Given the description of an element on the screen output the (x, y) to click on. 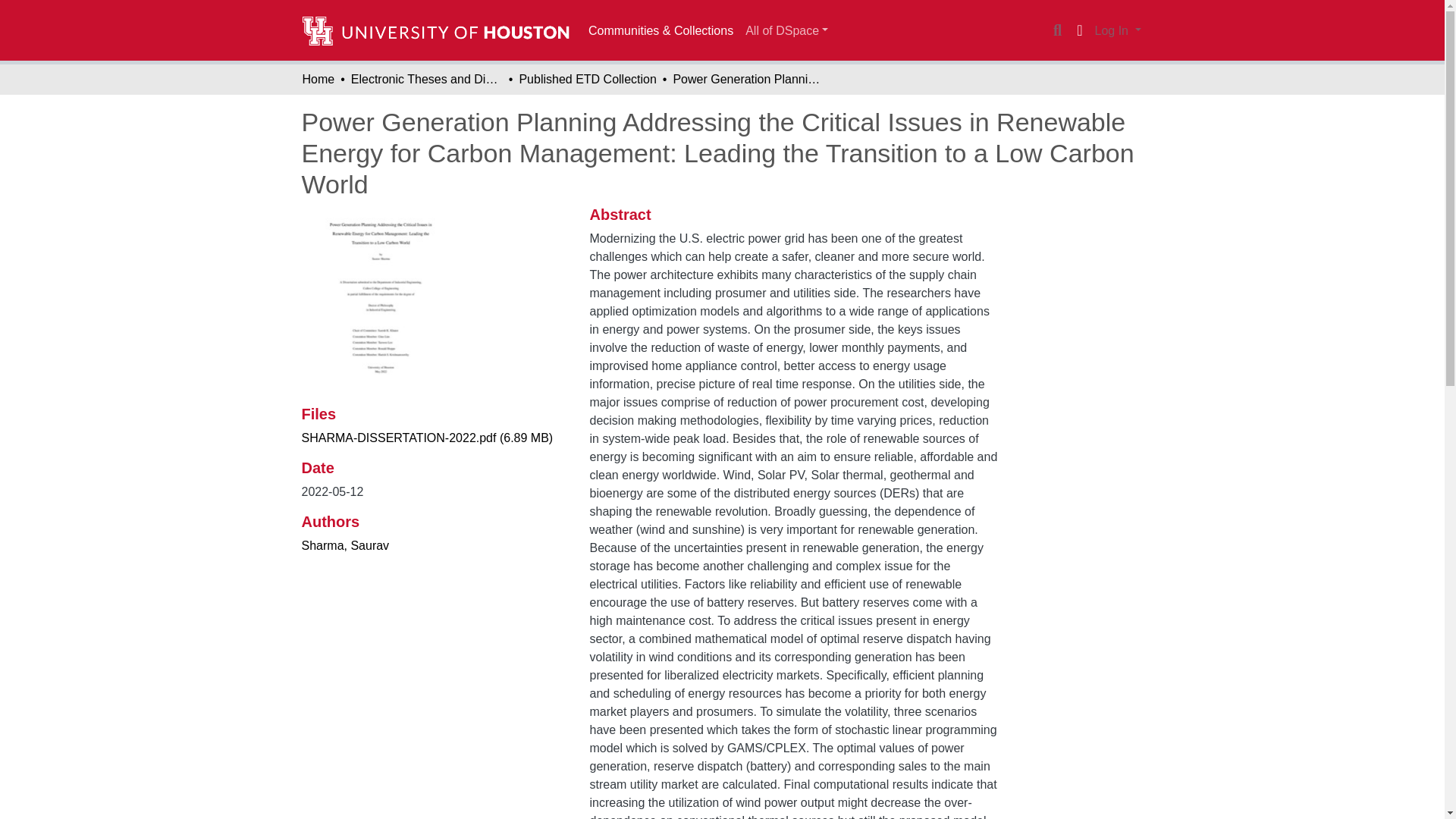
Sharma, Saurav (345, 545)
Search (1057, 30)
Language switch (1079, 30)
Home (317, 79)
Published ETD Collection (587, 79)
Log In (1117, 30)
All of DSpace (786, 30)
